Given the description of an element on the screen output the (x, y) to click on. 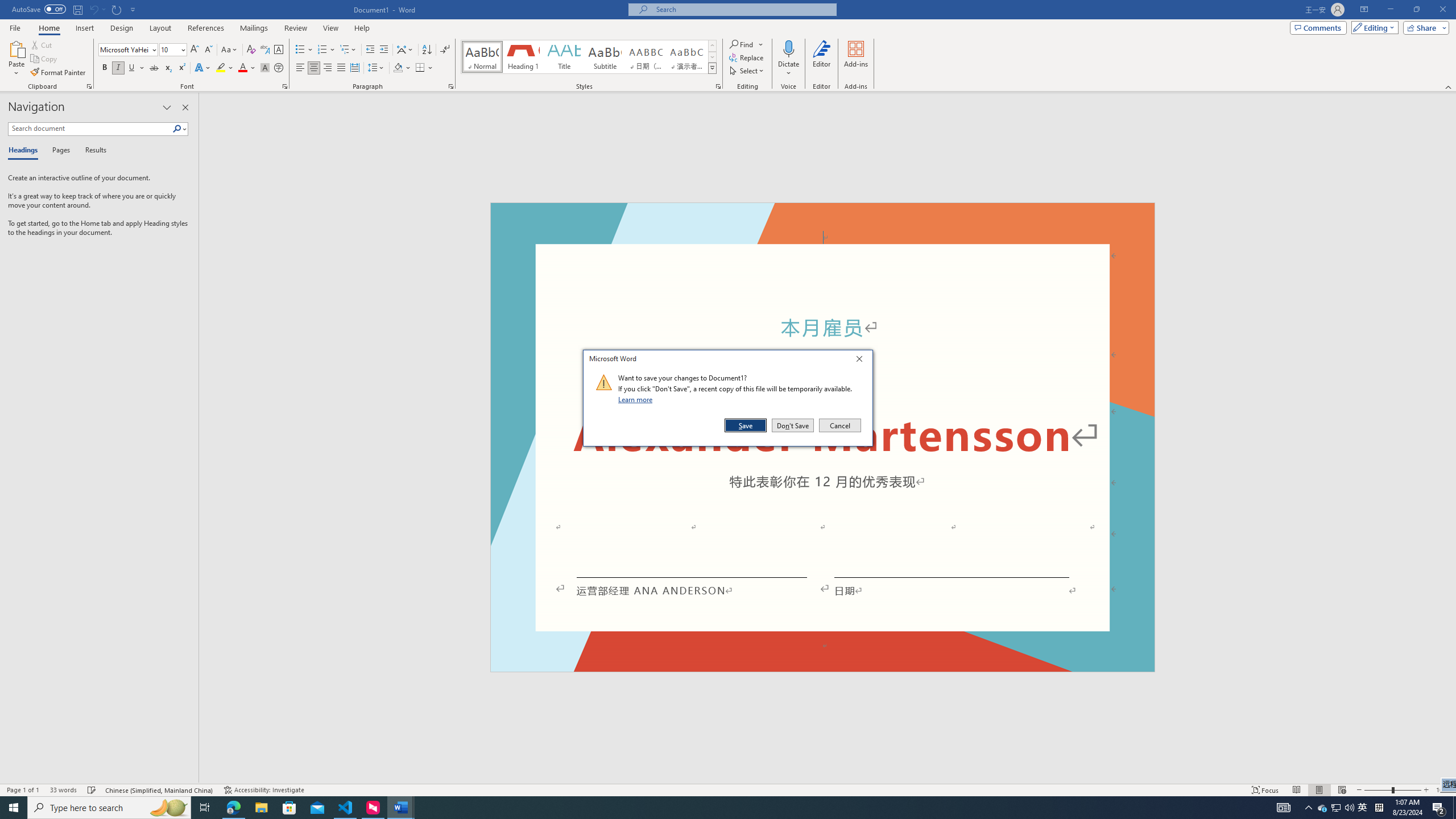
Notification Chevron (1308, 807)
Heading 1 (522, 56)
Start (13, 807)
Show desktop (1454, 807)
